Given the description of an element on the screen output the (x, y) to click on. 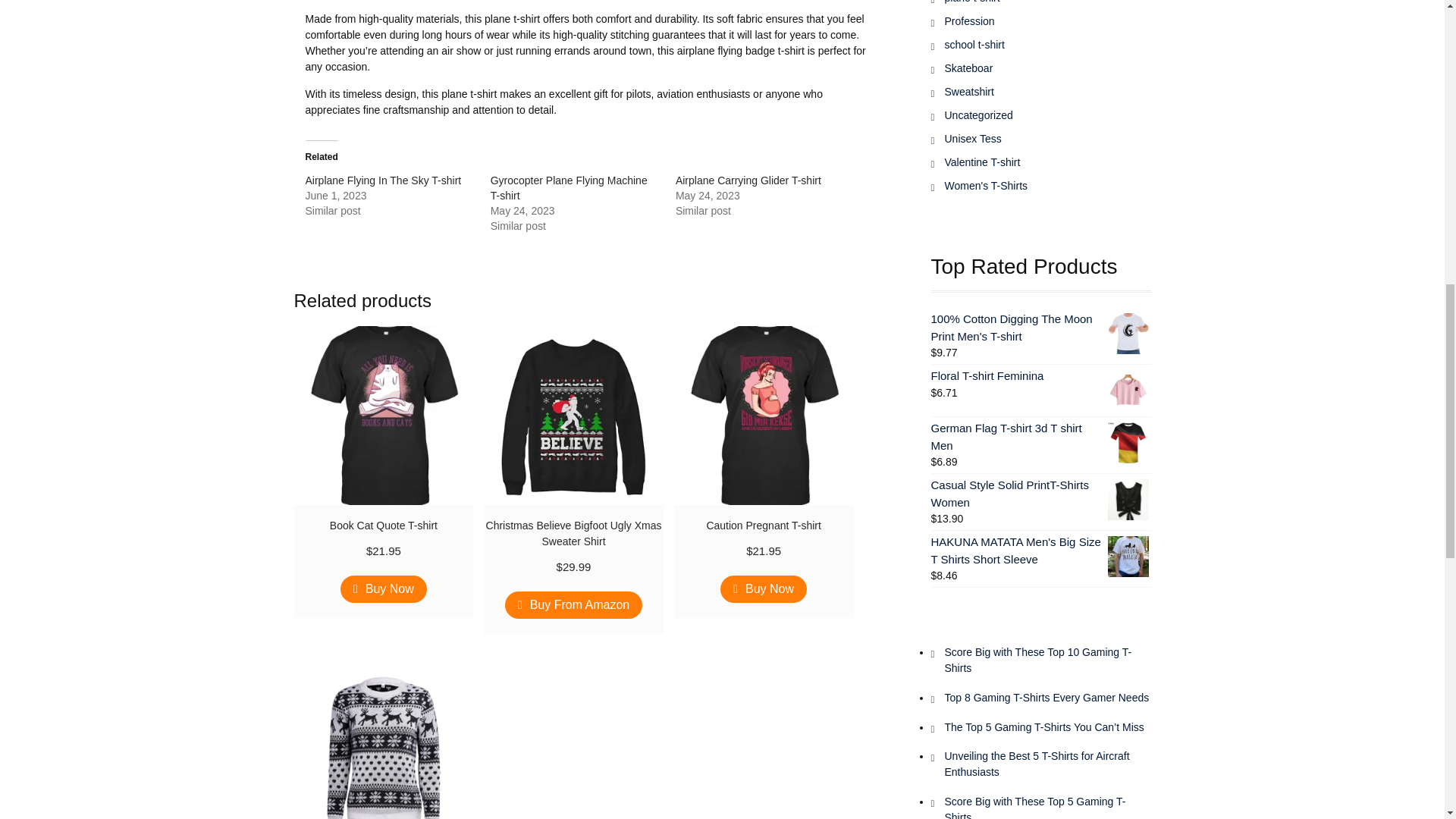
Airplane Carrying Glider T-shirt (748, 180)
Gyrocopter Plane Flying Machine T-shirt (568, 187)
Airplane Flying In The Sky T-shirt (382, 180)
